Given the description of an element on the screen output the (x, y) to click on. 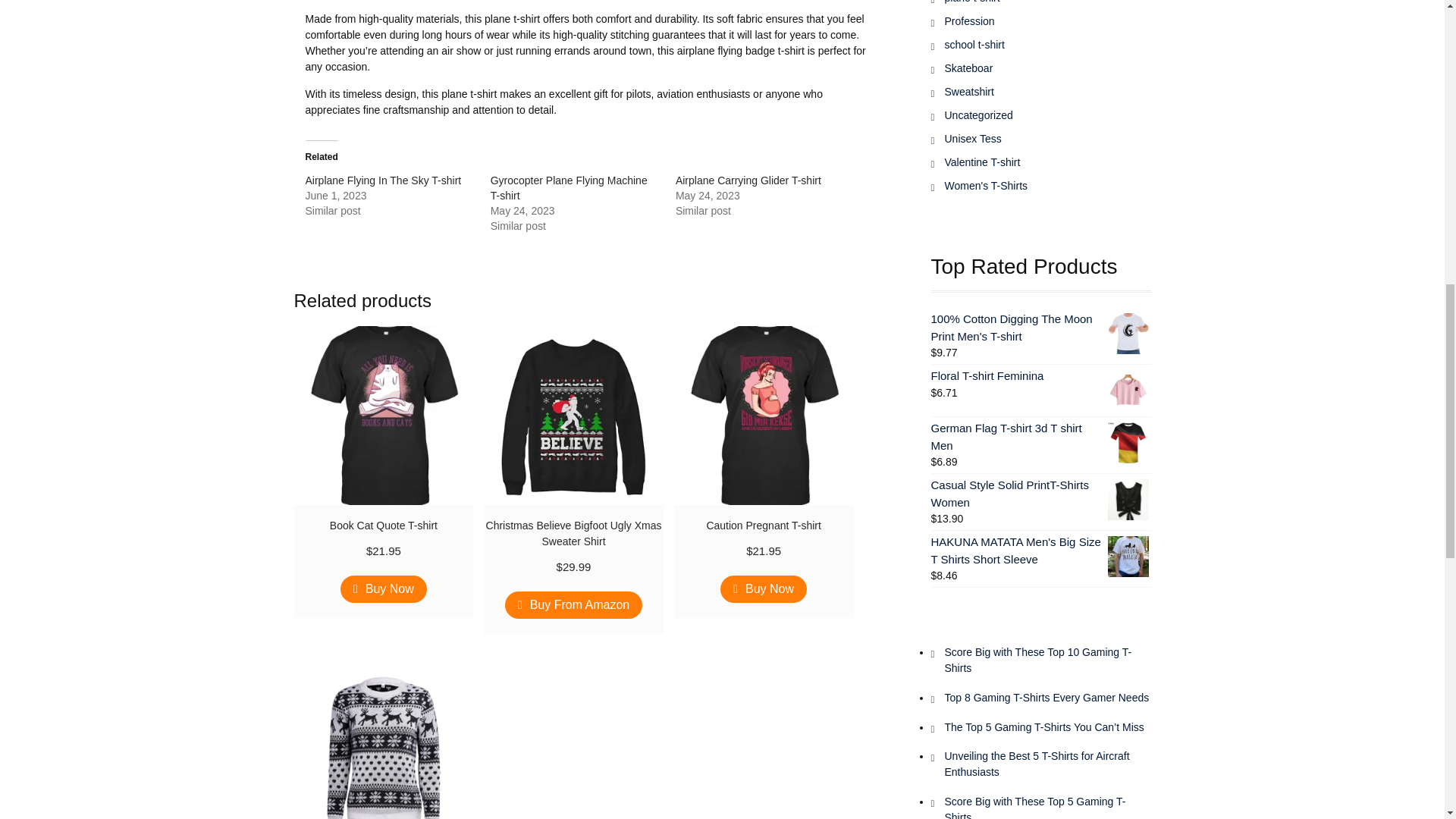
Airplane Carrying Glider T-shirt (748, 180)
Gyrocopter Plane Flying Machine T-shirt (568, 187)
Airplane Flying In The Sky T-shirt (382, 180)
